Given the description of an element on the screen output the (x, y) to click on. 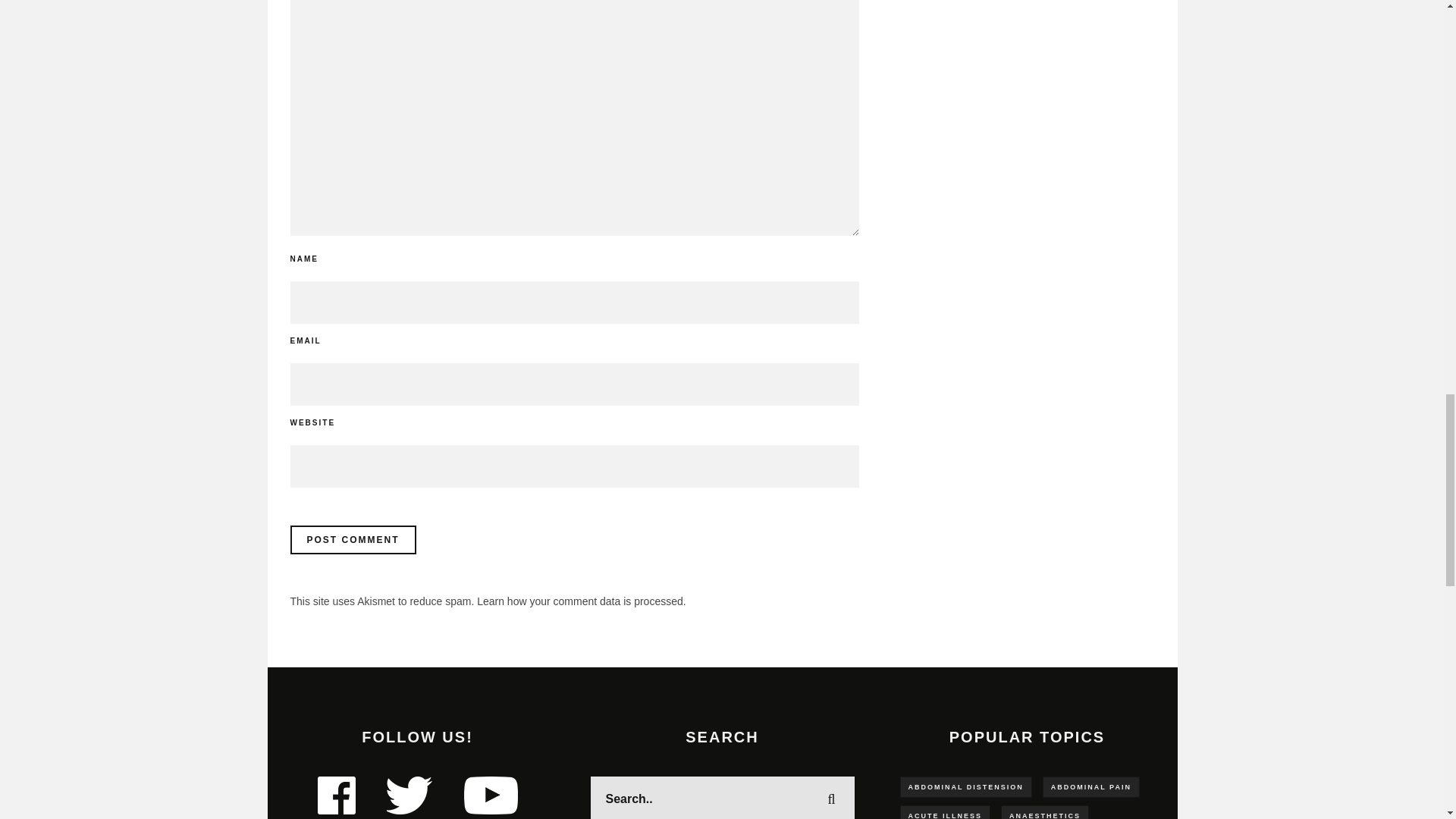
Post Comment (351, 539)
